Given the description of an element on the screen output the (x, y) to click on. 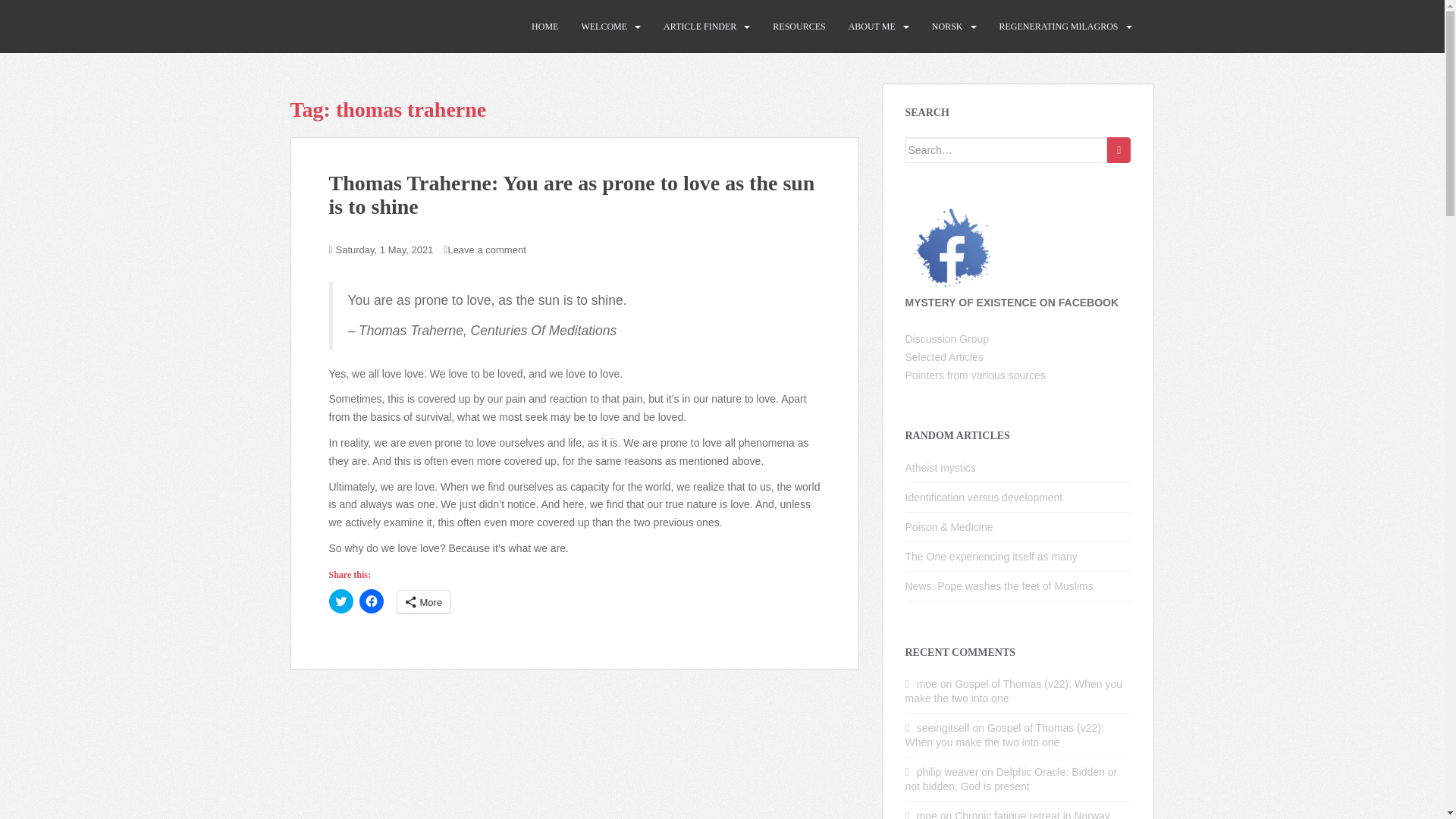
Click to share on Twitter (341, 600)
Search for: (1006, 149)
REGENERATING MILAGROS (1058, 26)
Saturday, 1 May, 2021 (384, 249)
ABOUT ME (871, 26)
Leave a comment (485, 249)
WELCOME (603, 26)
NORSK (946, 26)
RESOURCES (799, 26)
